Given the description of an element on the screen output the (x, y) to click on. 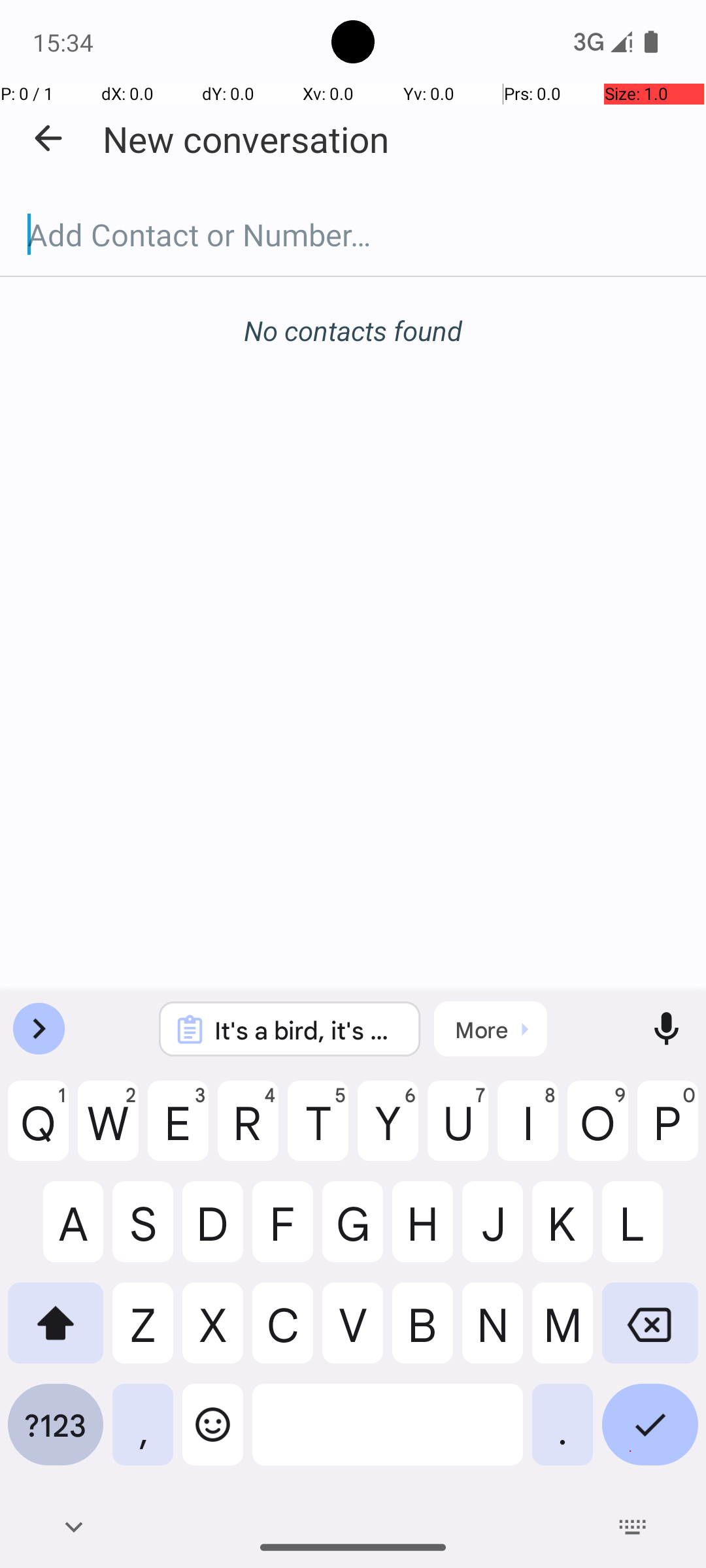
No contacts found Element type: android.widget.TextView (353, 329)
